Given the description of an element on the screen output the (x, y) to click on. 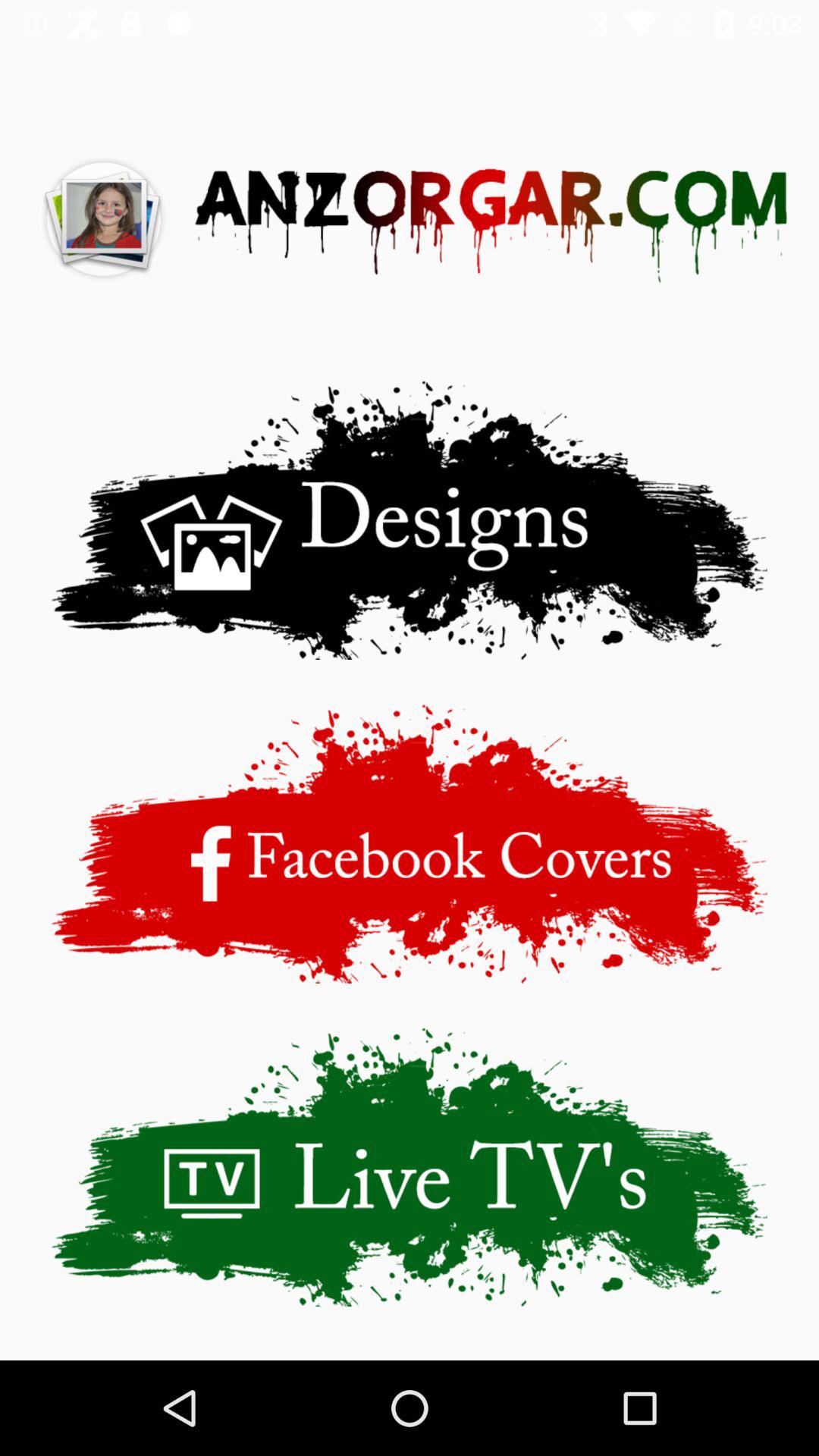
live tv 's (409, 1166)
